Given the description of an element on the screen output the (x, y) to click on. 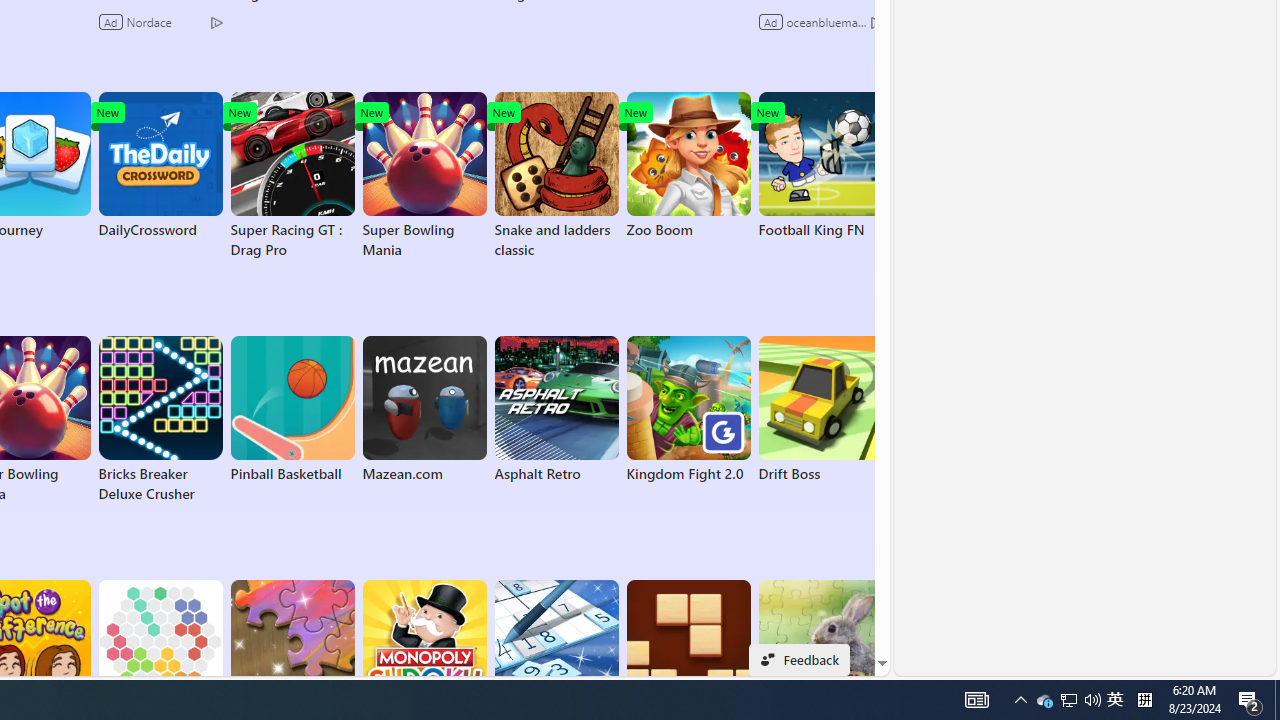
Pinball Basketball (292, 409)
Super Racing GT : Drag Pro (292, 175)
Football King FN (820, 165)
Kingdom Fight 2.0 (688, 409)
Bricks Breaker Deluxe Crusher (160, 419)
Super Bowling Mania (424, 175)
Asphalt Retro (556, 409)
Drift Boss (820, 409)
DailyCrossword (160, 165)
Zoo Boom (688, 165)
Mazean.com (424, 409)
Class: ad-choice  ad-choice-mono  (876, 21)
